Given the description of an element on the screen output the (x, y) to click on. 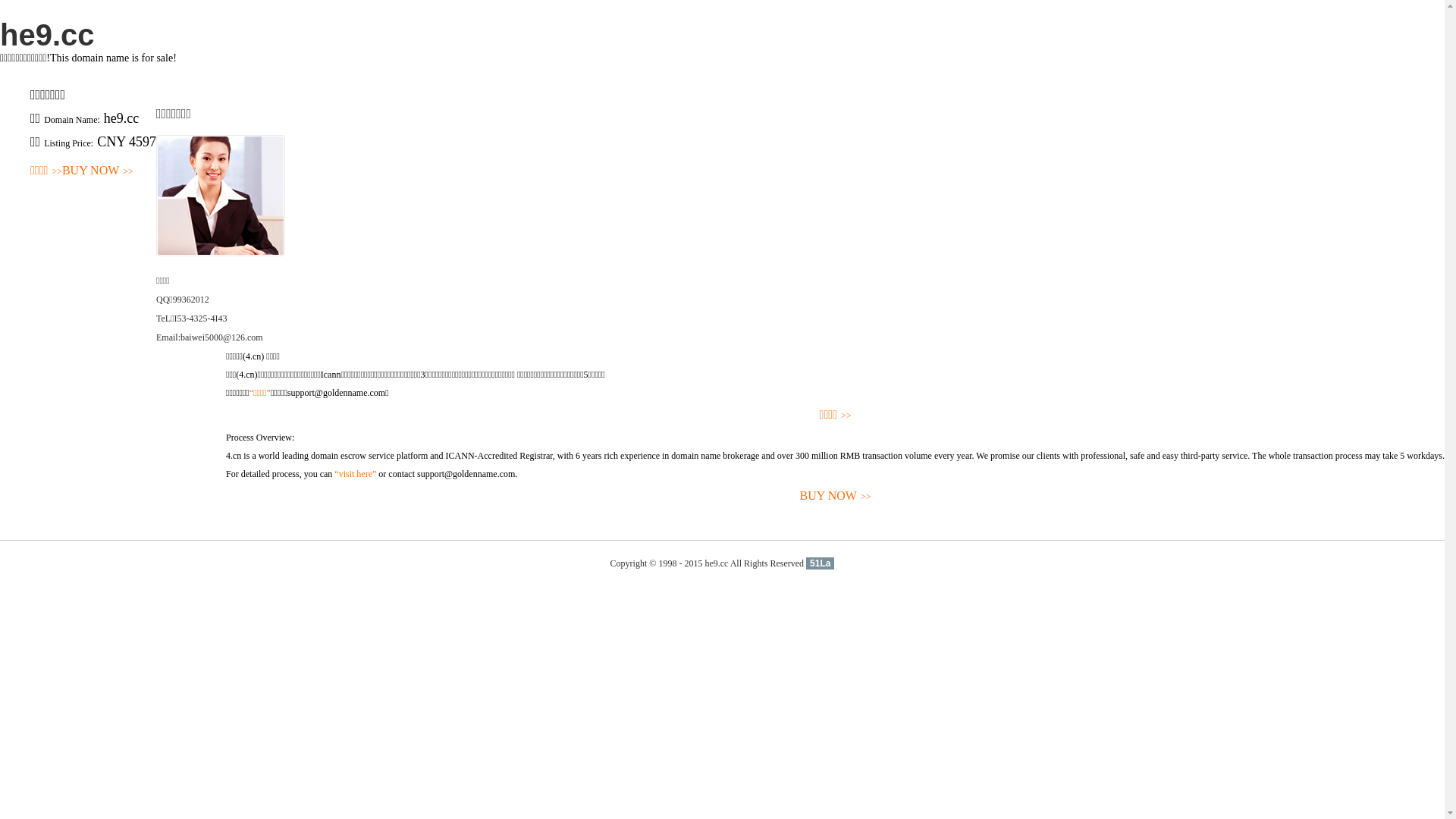
51La Element type: text (820, 563)
BUY NOW>> Element type: text (97, 170)
BUY NOW>> Element type: text (834, 496)
